Given the description of an element on the screen output the (x, y) to click on. 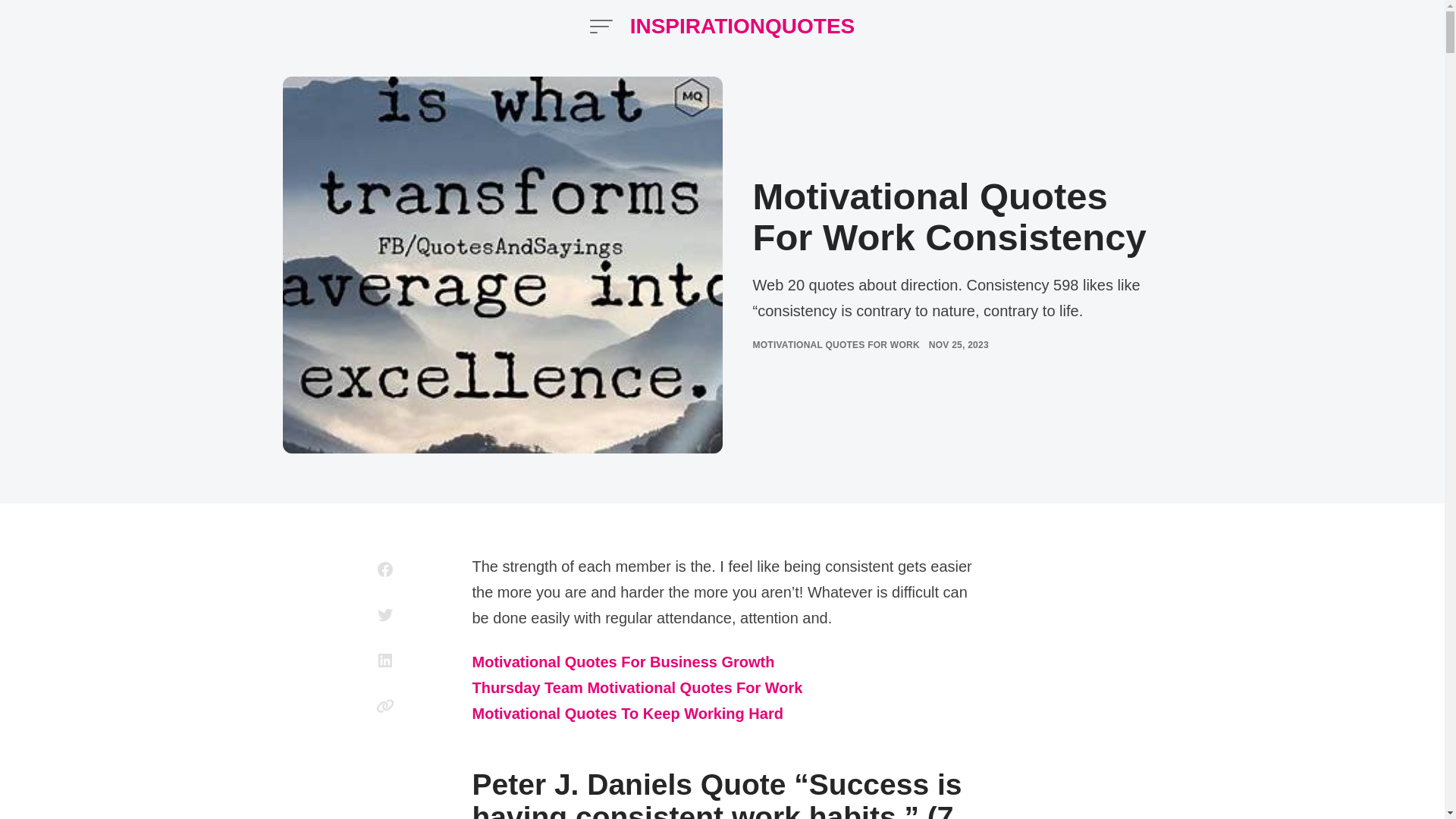
Thursday Team Motivational Quotes For Work (636, 688)
INSPIRATIONQUOTES (743, 26)
Share on LinkedIn (384, 660)
Share on Facebook (384, 569)
Motivational Quotes For Business Growth (622, 662)
Copy link (384, 705)
Motivational Quotes To Keep Working Hard (627, 714)
MOTIVATIONAL QUOTES FOR WORK (835, 344)
Share on Twitter (384, 615)
